Given the description of an element on the screen output the (x, y) to click on. 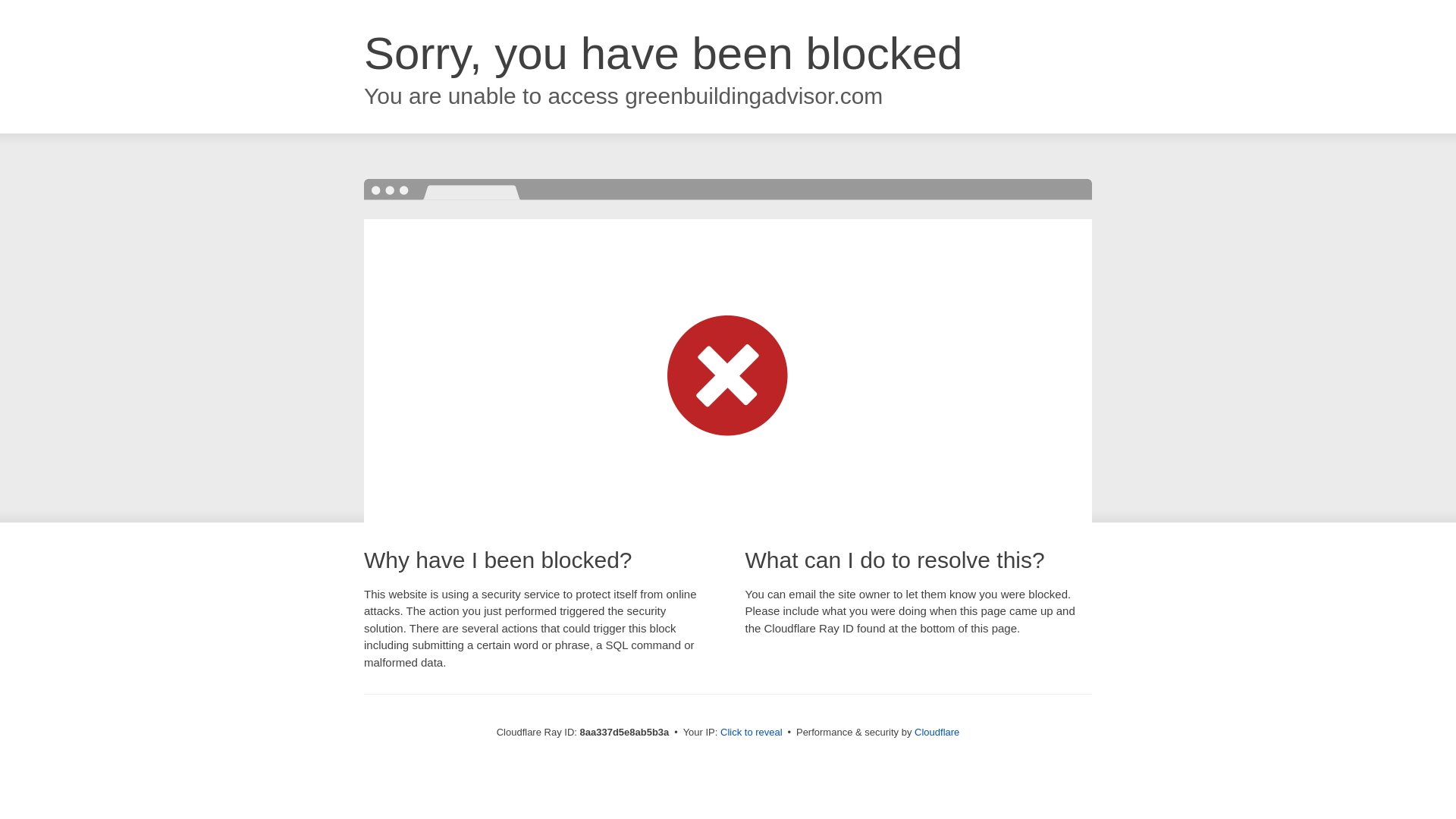
Cloudflare (936, 731)
Click to reveal (751, 732)
